Given the description of an element on the screen output the (x, y) to click on. 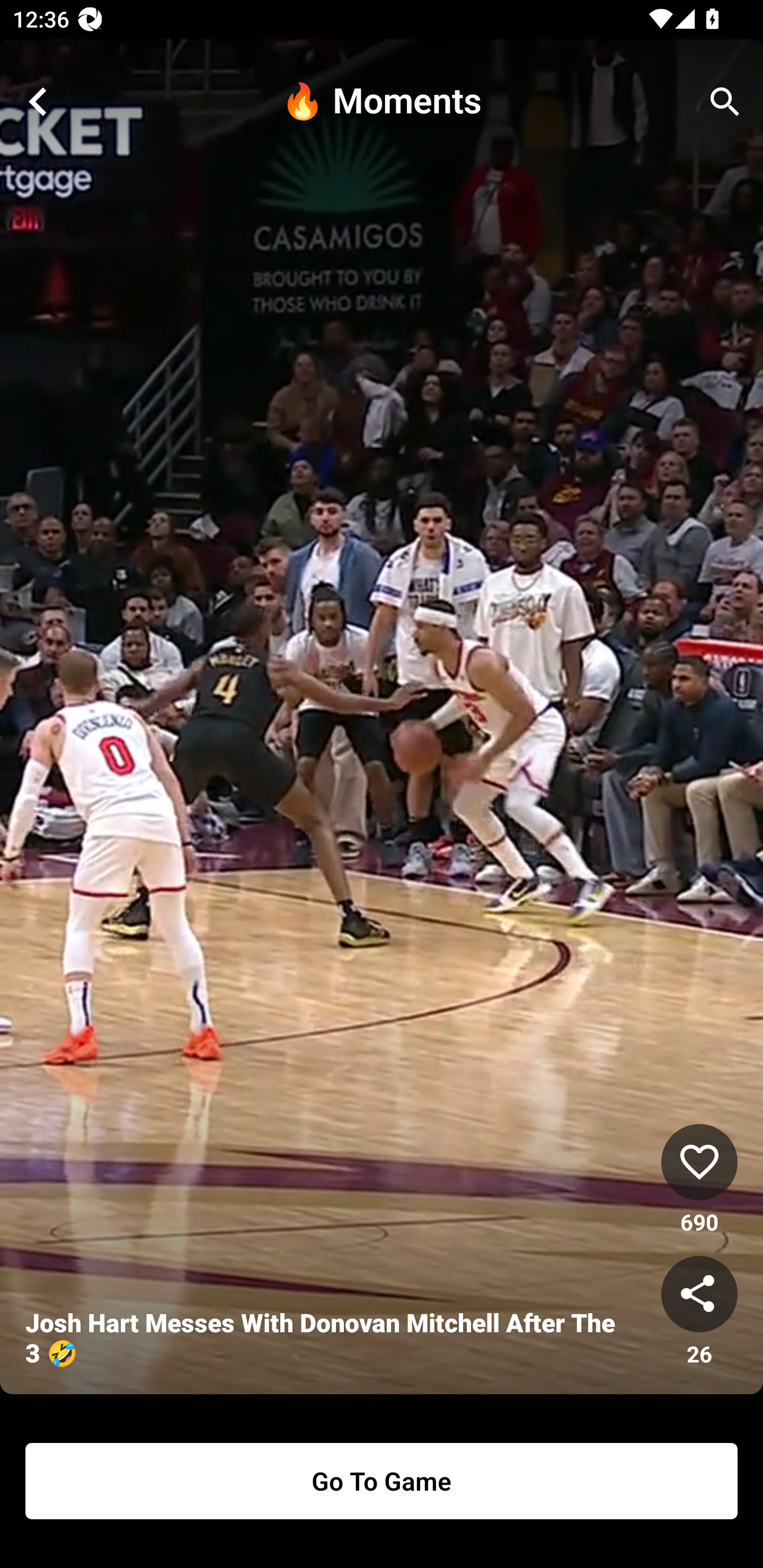
close (38, 101)
search (724, 101)
like 690 690 Likes (699, 1180)
share 26 26 Shares (699, 1311)
Go To Game (381, 1480)
